Given the description of an element on the screen output the (x, y) to click on. 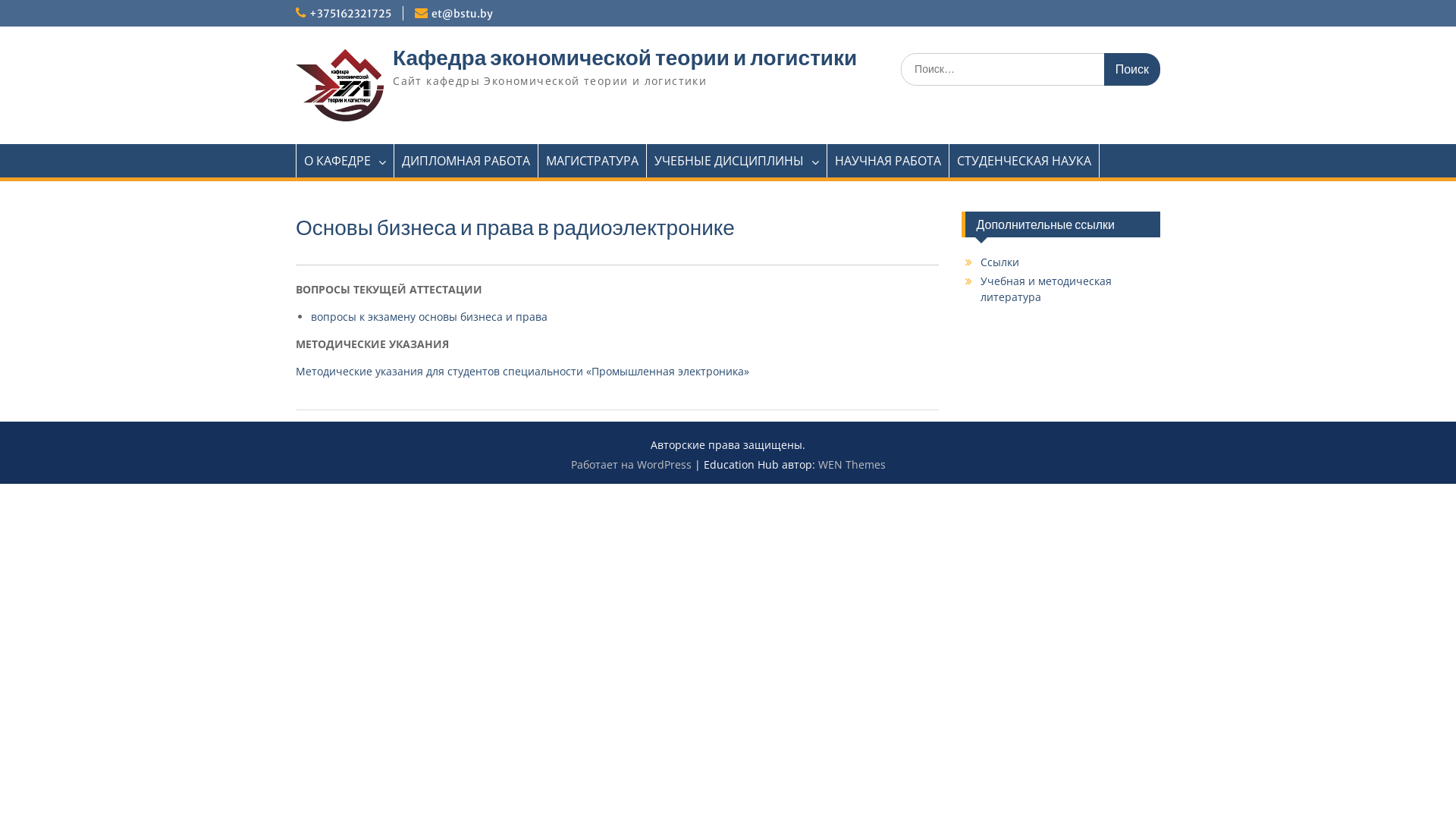
WEN Themes Element type: text (850, 464)
et@bstu.by Element type: text (461, 13)
+375162321725 Element type: text (350, 13)
